Given the description of an element on the screen output the (x, y) to click on. 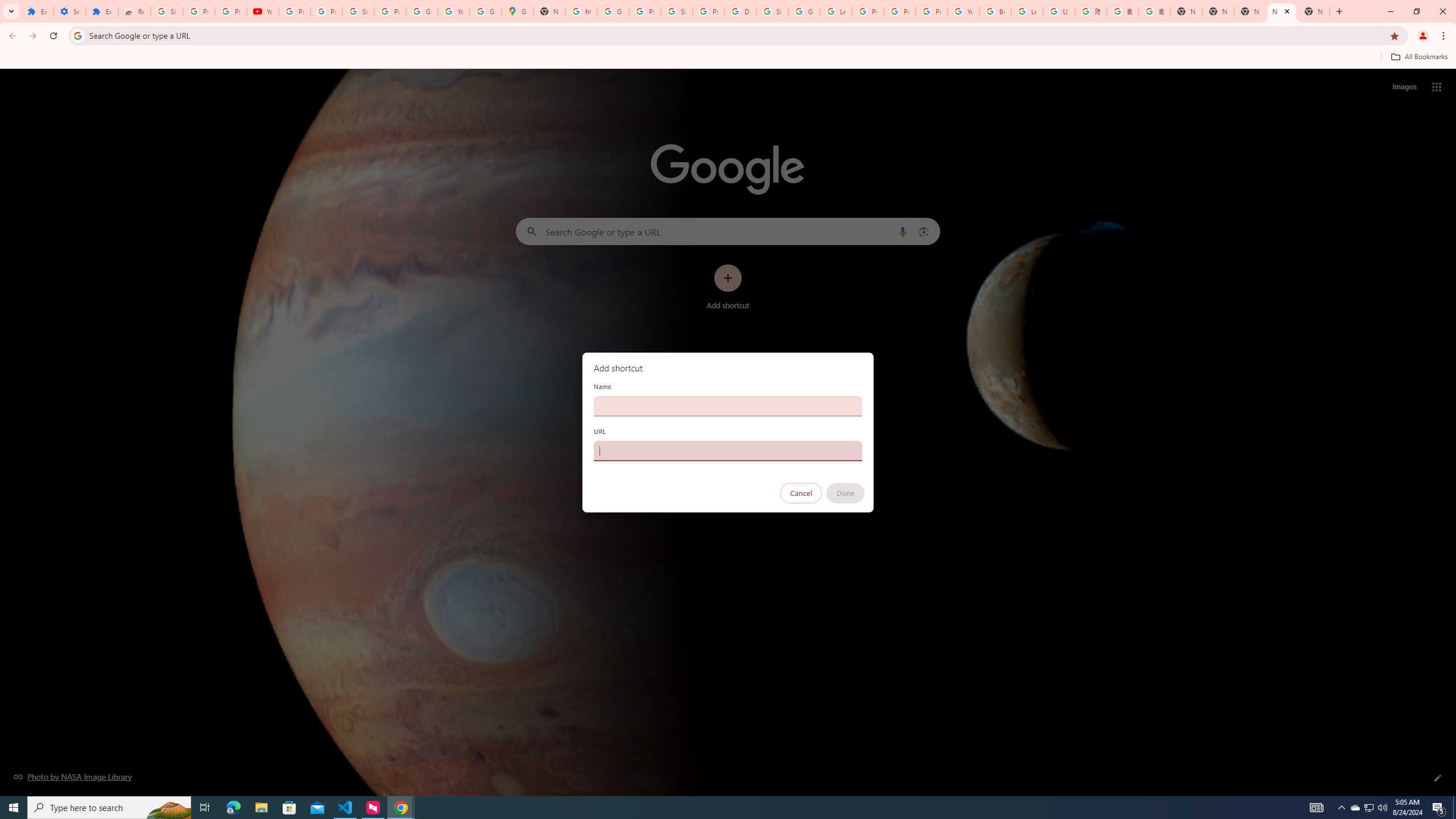
New Tab (1313, 11)
https://scholar.google.com/ (581, 11)
YouTube (963, 11)
Bookmarks (728, 58)
Sign in - Google Accounts (772, 11)
Name (727, 405)
